Given the description of an element on the screen output the (x, y) to click on. 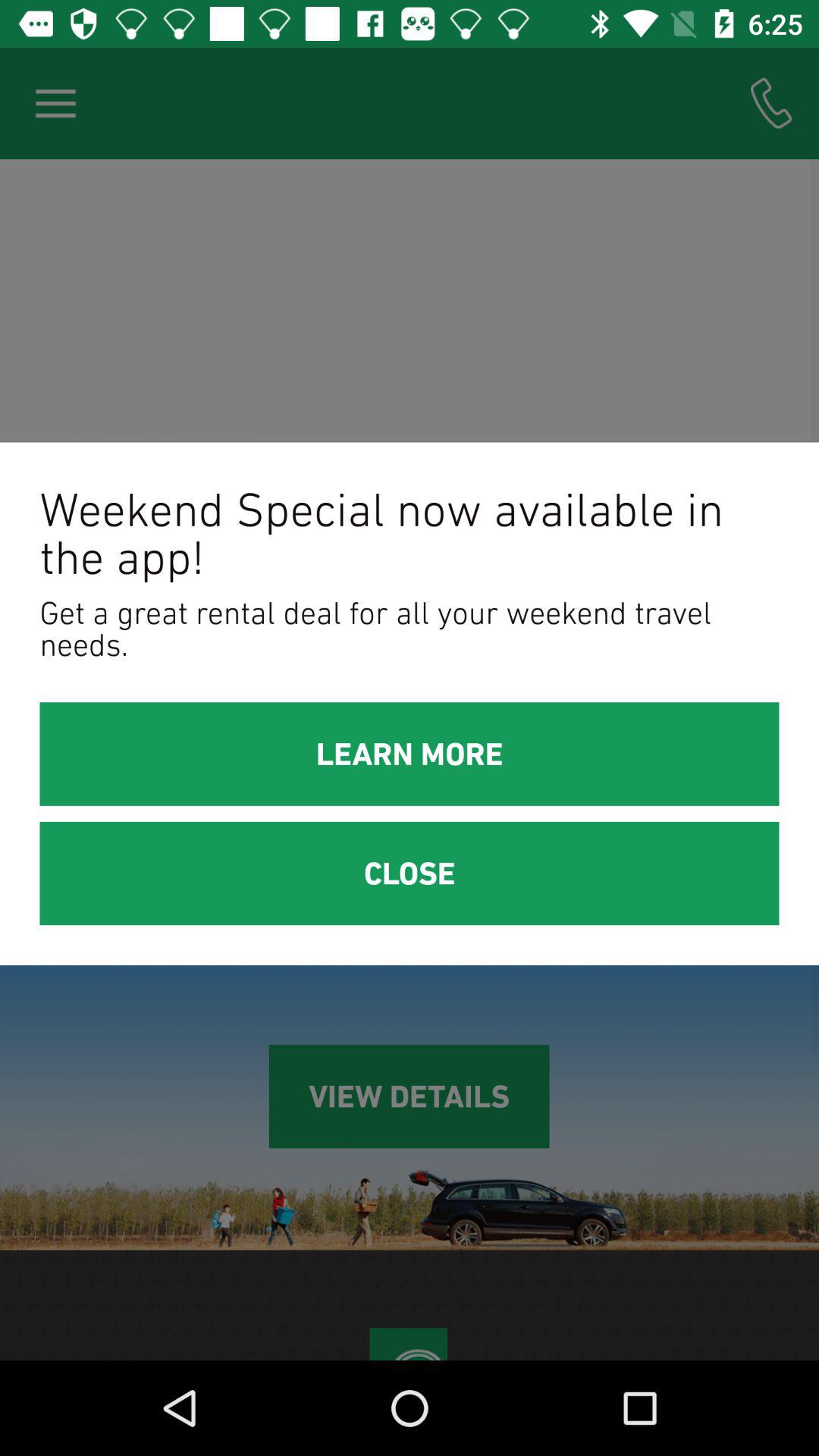
swipe until the close (409, 873)
